Given the description of an element on the screen output the (x, y) to click on. 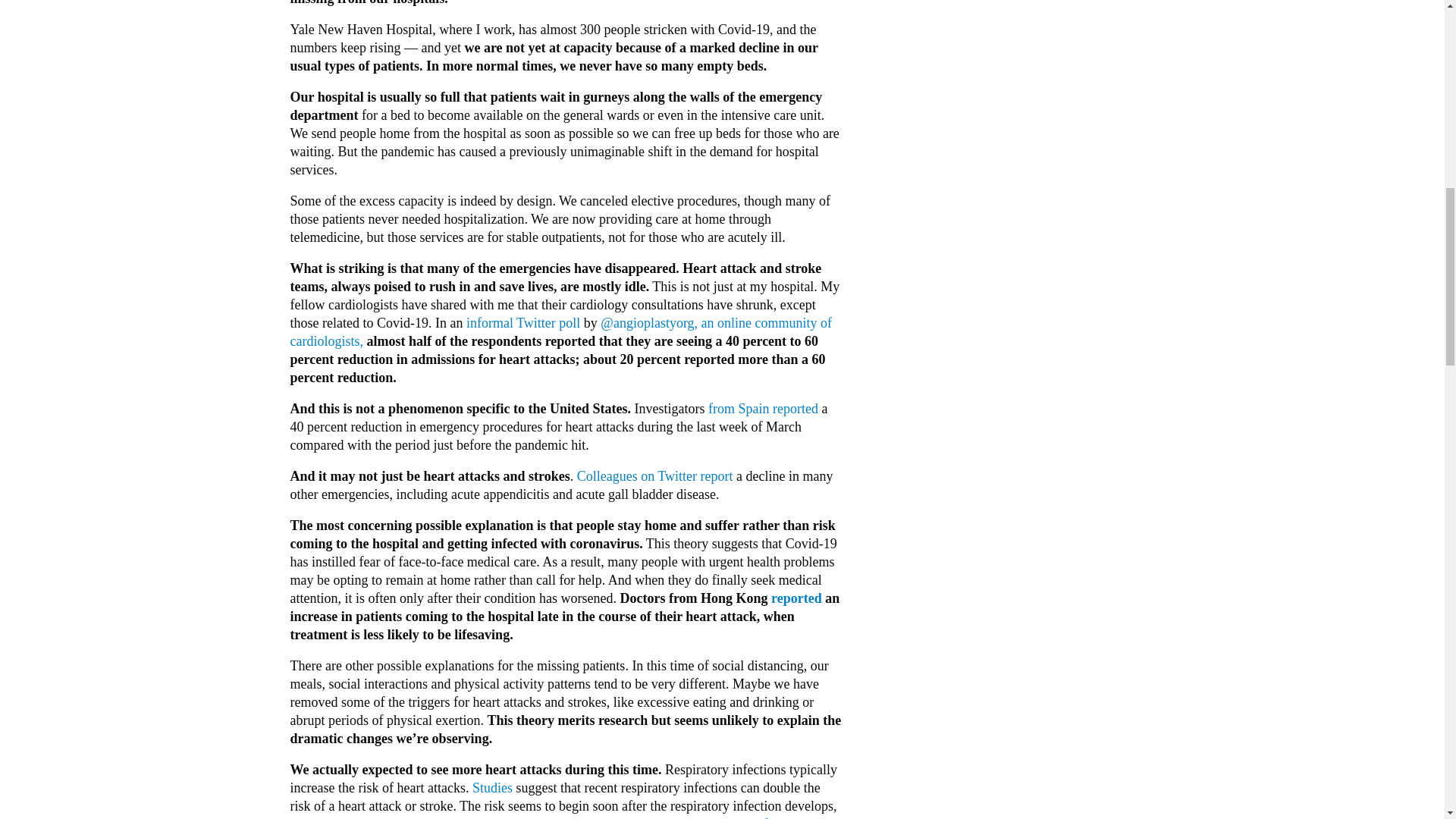
informal Twitter poll (522, 322)
Studies (491, 787)
Colleagues on Twitter report (654, 476)
reported (796, 598)
from Spain reported (762, 408)
